Given the description of an element on the screen output the (x, y) to click on. 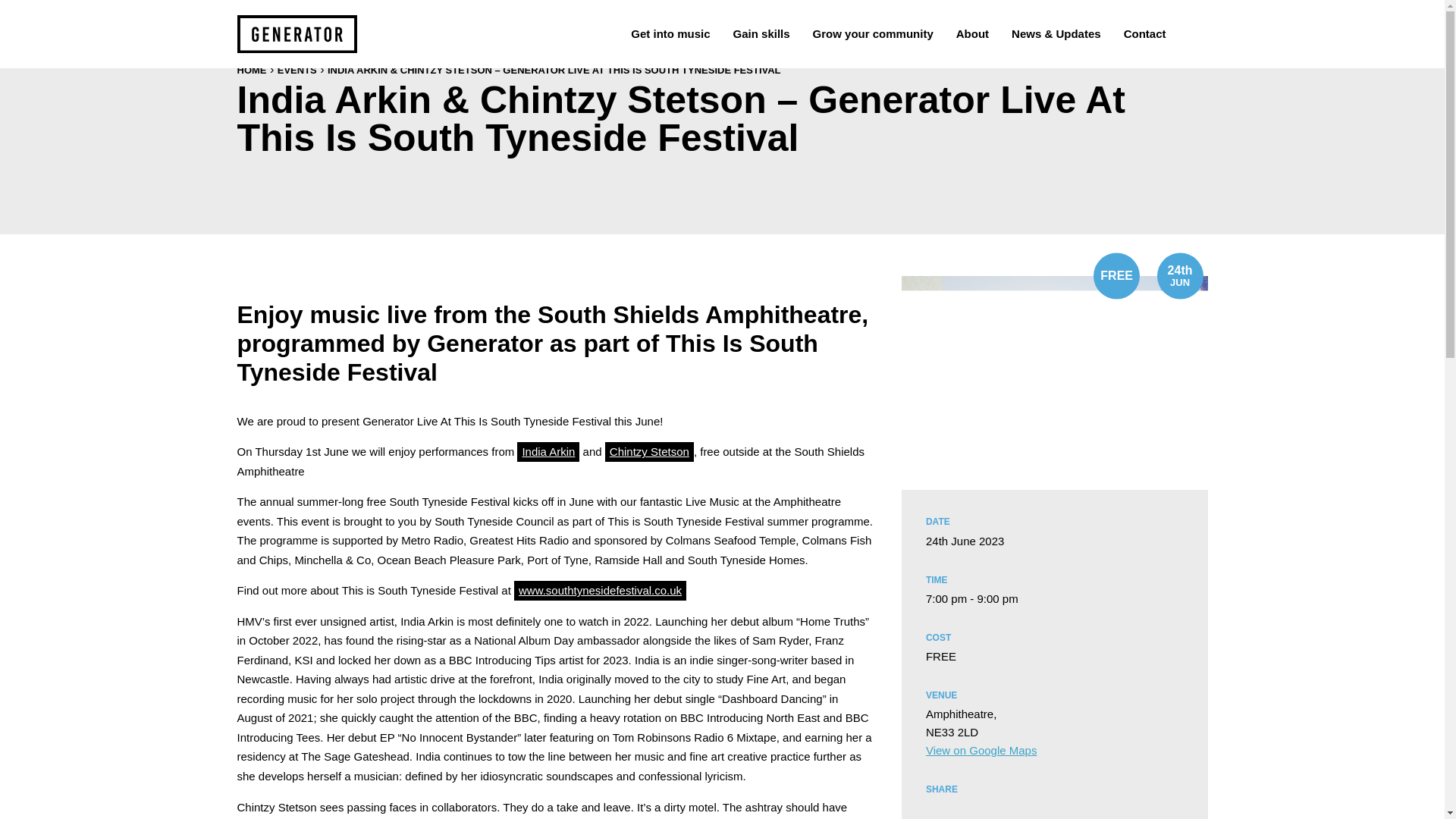
www.southtynesidefestival.co.uk (599, 590)
India Arkin (547, 451)
Gain skills (762, 33)
View on Google Maps (981, 749)
Search Generator (1191, 33)
Chintzy Stetson (649, 451)
EVENTS (297, 70)
Get into music (670, 33)
About (972, 33)
Grow your community (873, 33)
